Given the description of an element on the screen output the (x, y) to click on. 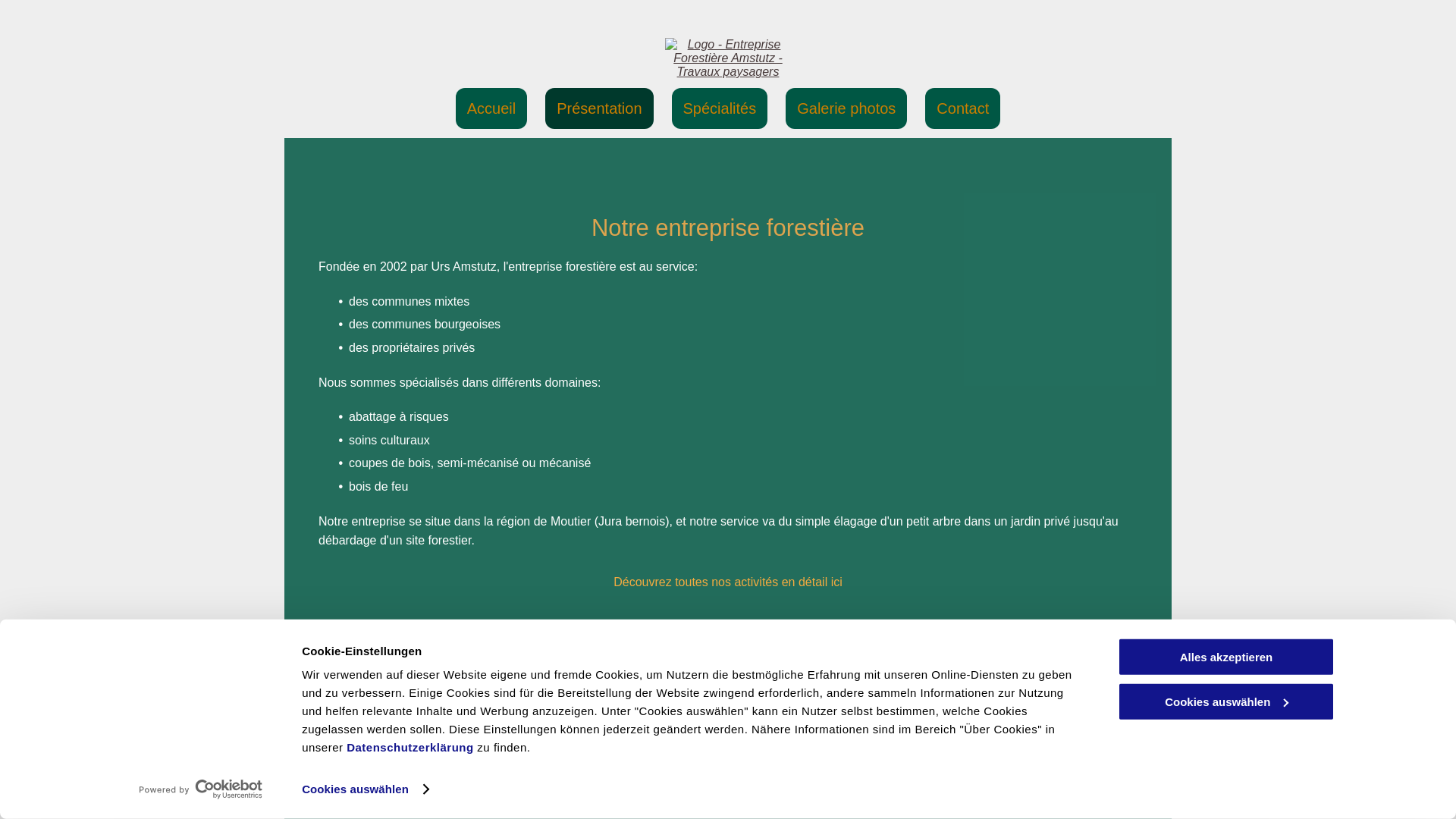
Alles akzeptieren Element type: text (1225, 656)
Accueil Element type: text (491, 107)
Contact Element type: text (962, 107)
Galerie photos Element type: text (845, 107)
